Given the description of an element on the screen output the (x, y) to click on. 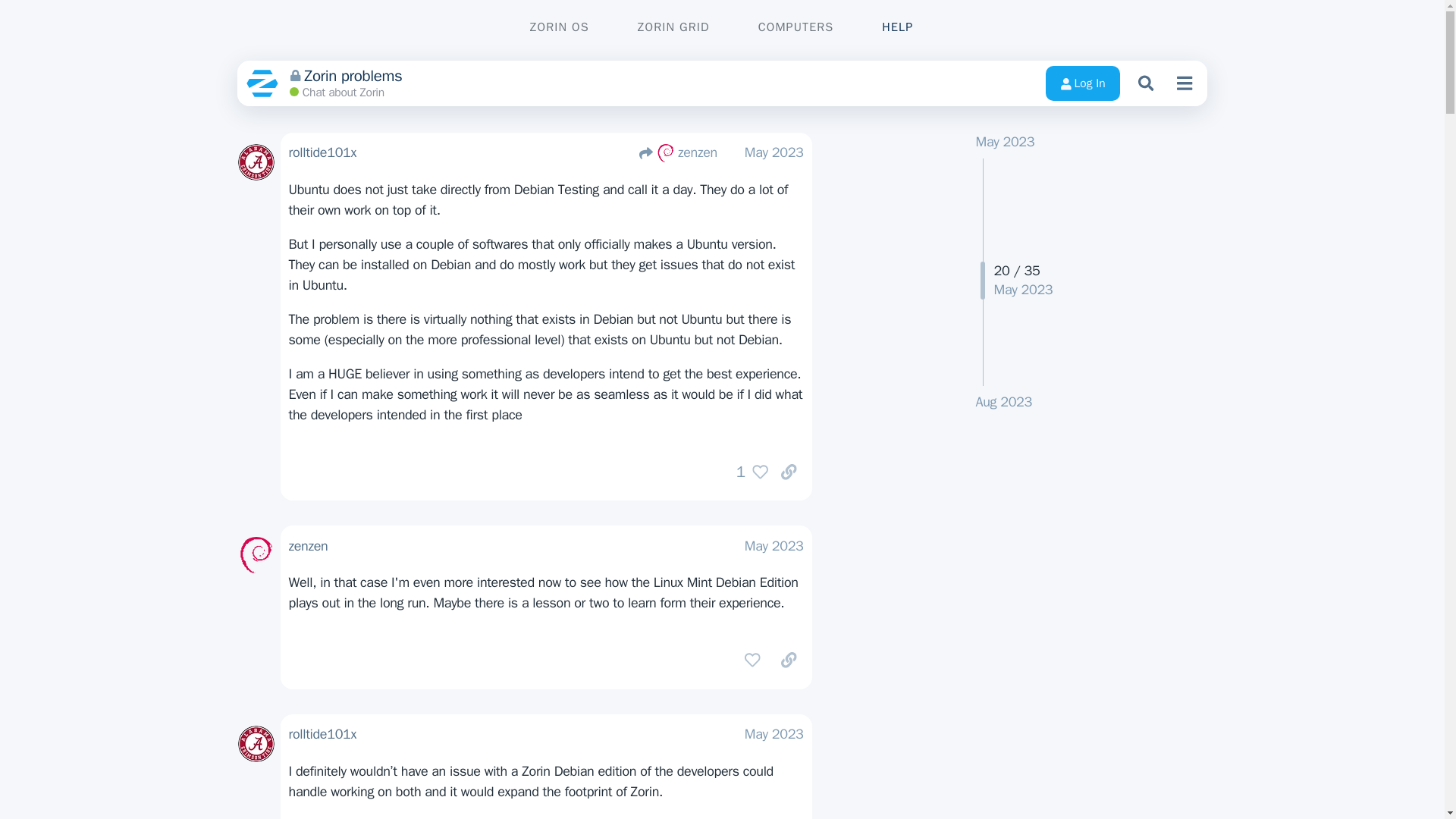
rolltide101x (322, 733)
Discussions about Zorin not related to help and support. (336, 92)
copy a link to this post to clipboard (789, 660)
copy a link to this post to clipboard (789, 471)
1 (748, 471)
Post date (773, 733)
30 Aug 2023 06:07 (1002, 401)
Zorin problems (662, 75)
ZORIN OS (559, 27)
Go to another topic list or category (1185, 83)
May 2023 (773, 545)
COMPUTERS (796, 27)
Post date (773, 545)
Aug 2023 (1002, 402)
May 2023 (1004, 141)
